Given the description of an element on the screen output the (x, y) to click on. 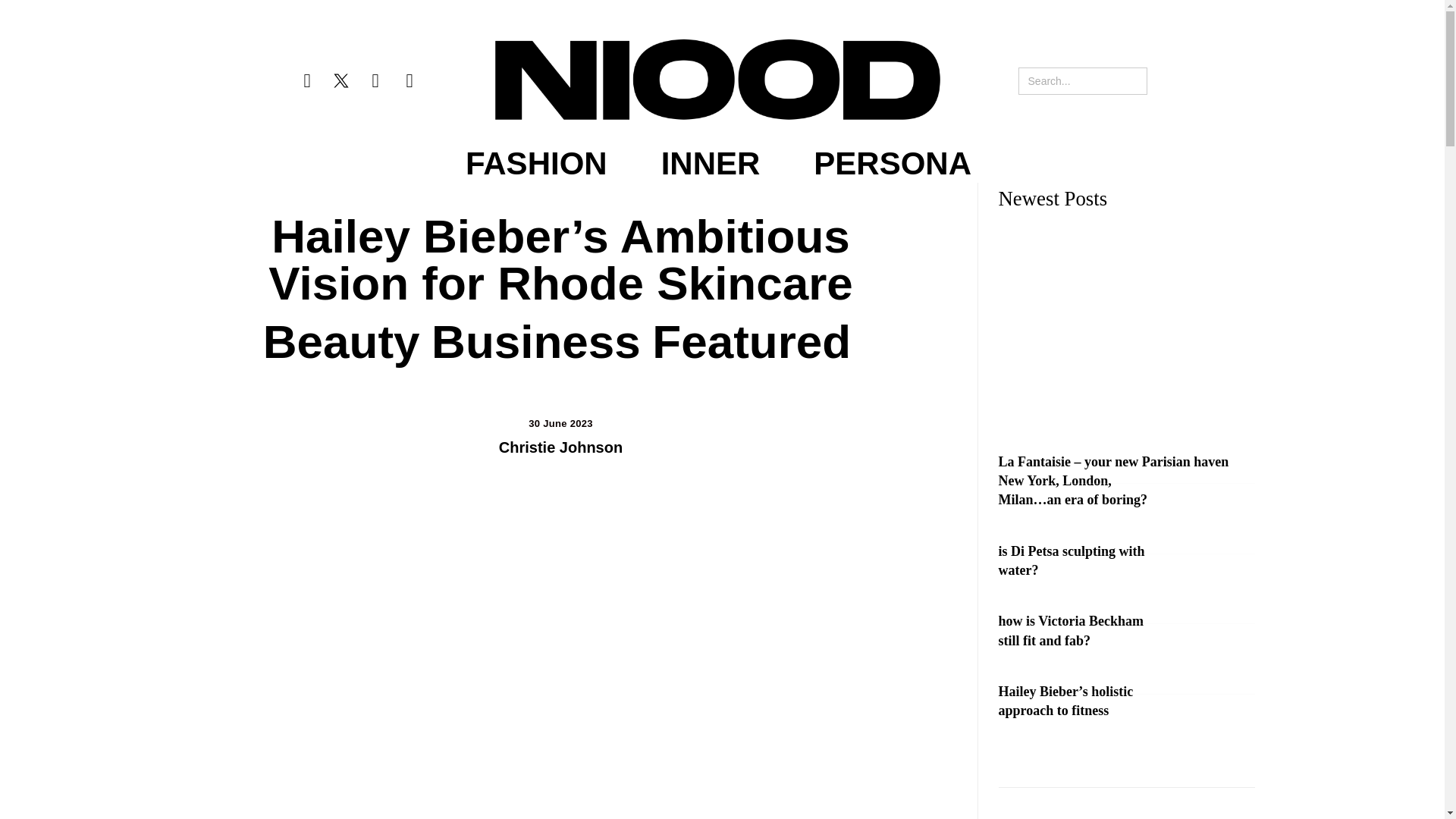
Business (535, 341)
Christie Johnson (561, 447)
PERSONA (892, 163)
FASHION (536, 163)
Beauty (341, 341)
Featured (751, 341)
INNER (710, 163)
